Given the description of an element on the screen output the (x, y) to click on. 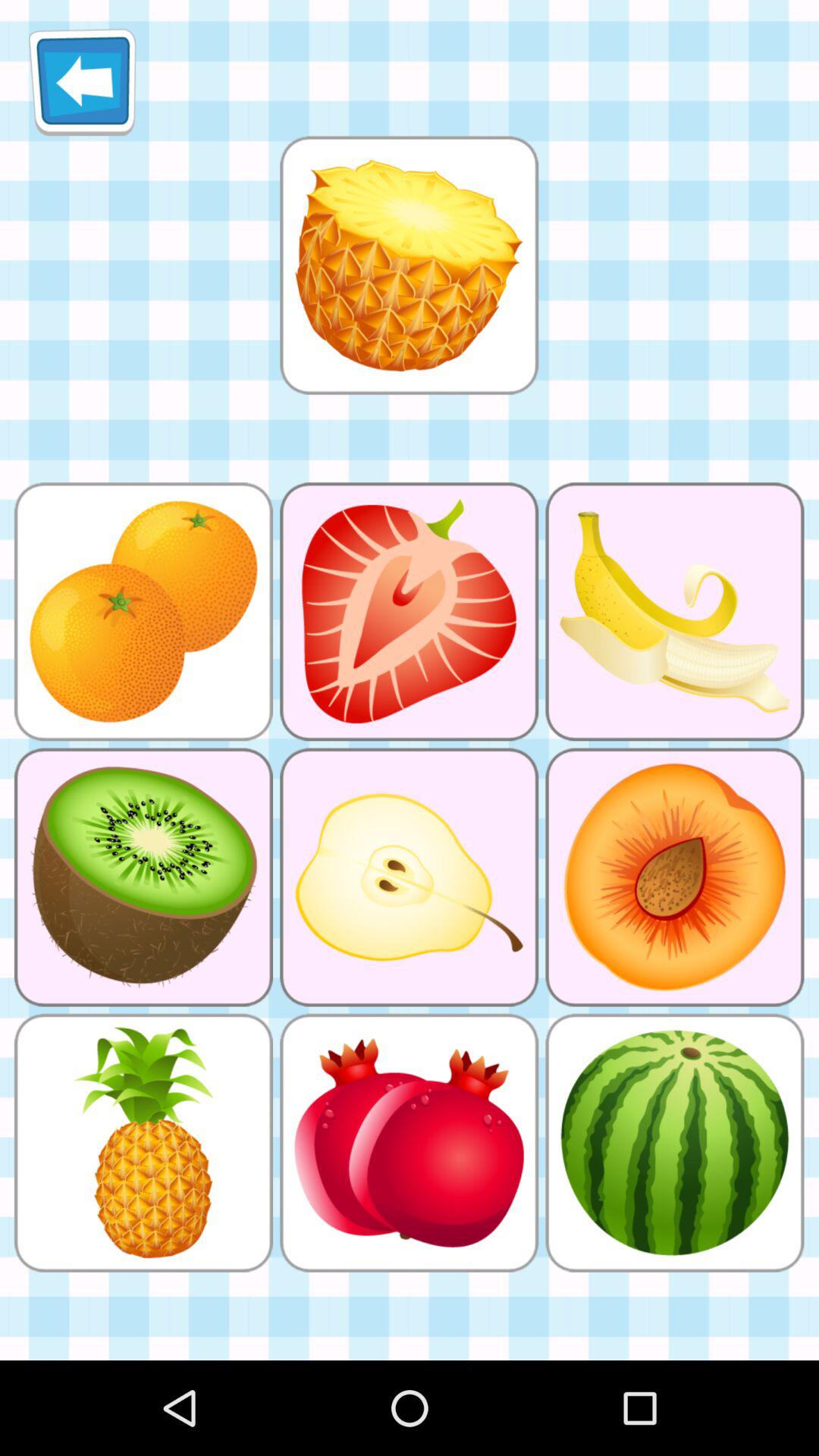
select fruit (409, 265)
